Given the description of an element on the screen output the (x, y) to click on. 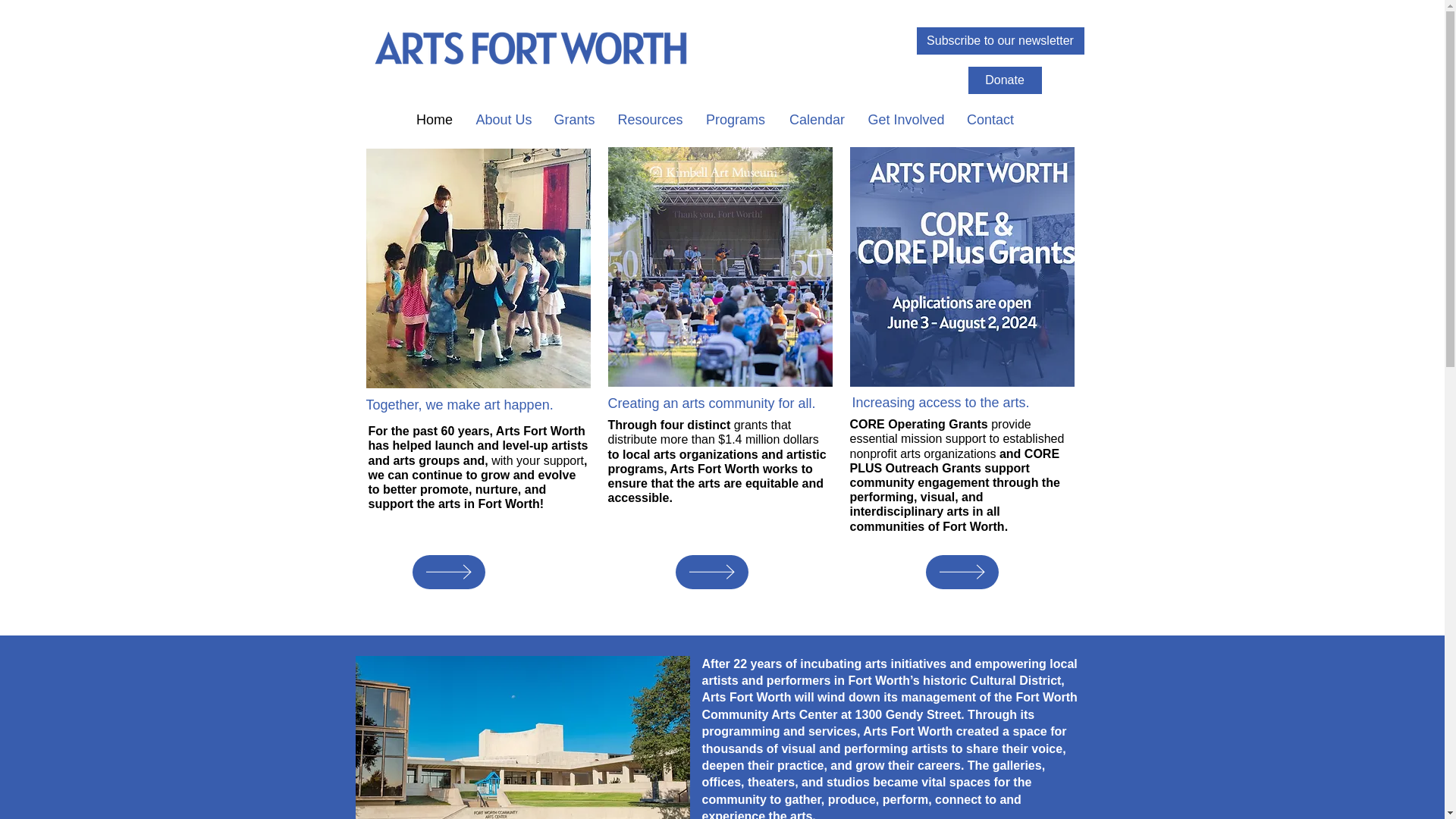
Resources (650, 118)
About Us (502, 118)
Armando 2.jpg (720, 266)
Armando 2.jpg (961, 266)
Grants (575, 118)
Donate (1004, 80)
Contact (990, 118)
Subscribe to our newsletter (999, 40)
Calendar (817, 118)
Get Involved (906, 118)
